Given the description of an element on the screen output the (x, y) to click on. 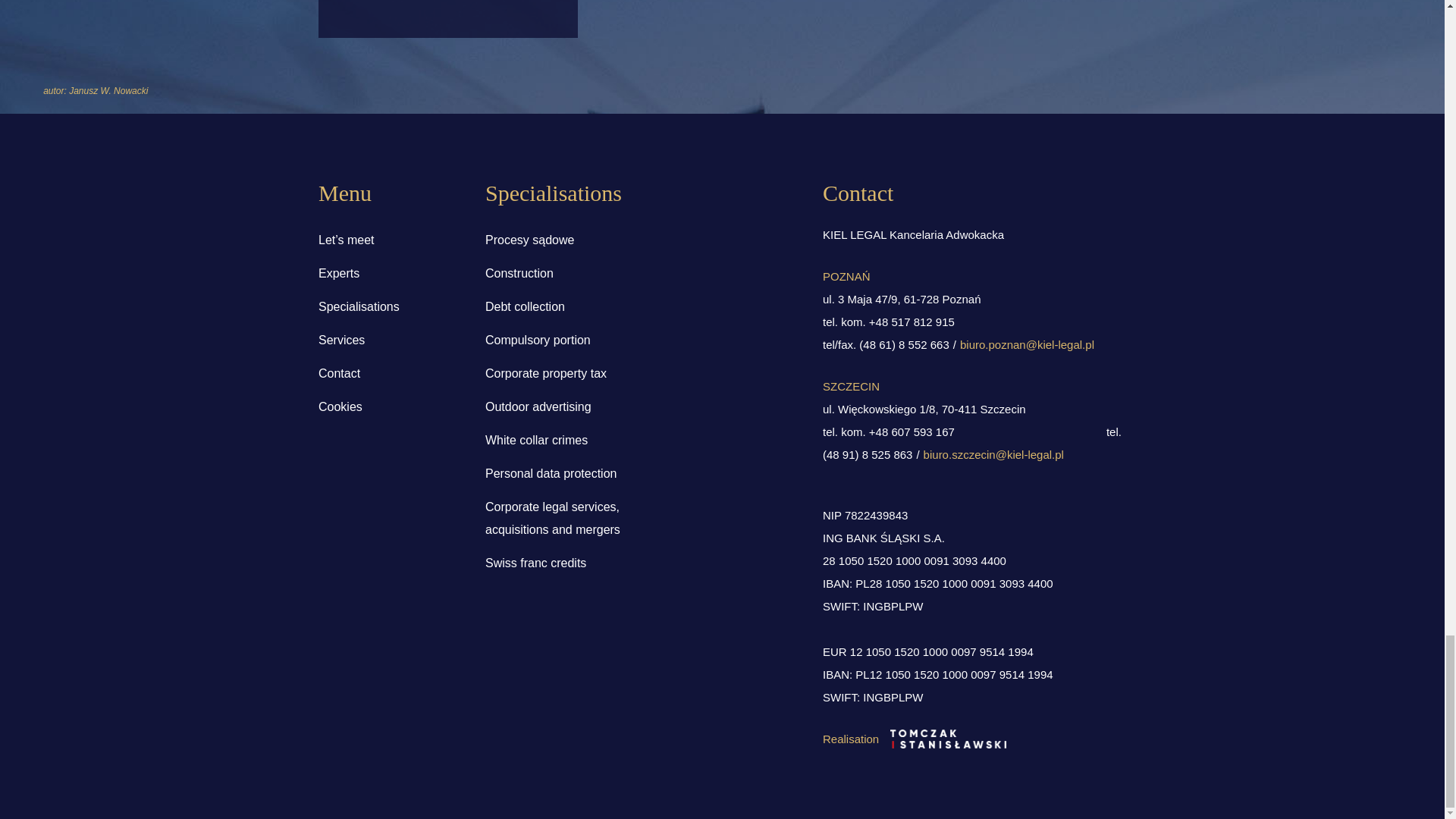
Damages and compensation disputes (448, 18)
